Given the description of an element on the screen output the (x, y) to click on. 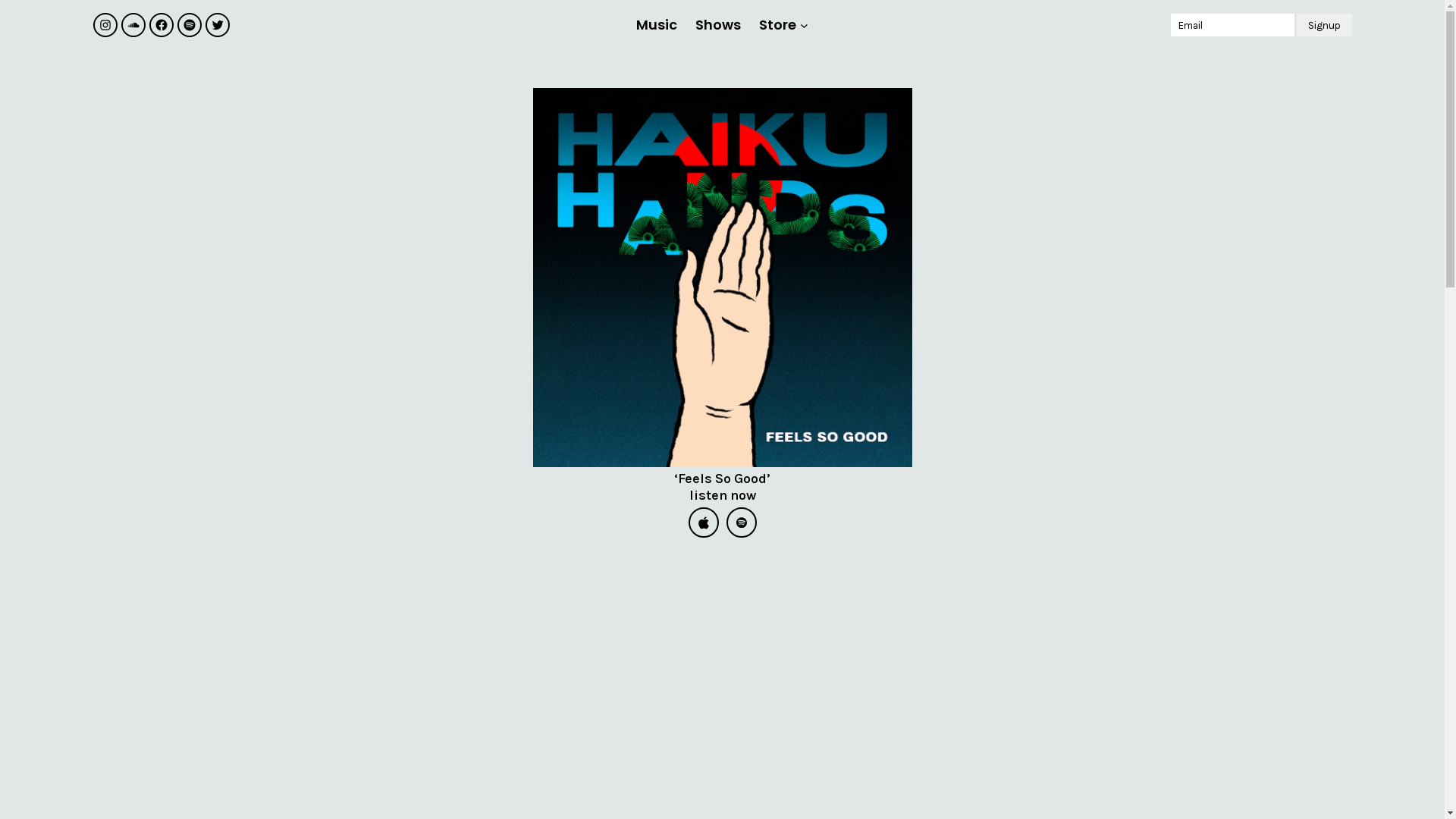
Twitter Element type: text (216, 24)
Facebook Element type: text (160, 24)
Shows Element type: text (717, 24)
Soundcloud Element type: text (133, 24)
Spotify Element type: text (189, 24)
Store Element type: text (777, 24)
Signup Element type: text (1324, 24)
Music Element type: text (656, 24)
Instagram Element type: text (104, 24)
